Given the description of an element on the screen output the (x, y) to click on. 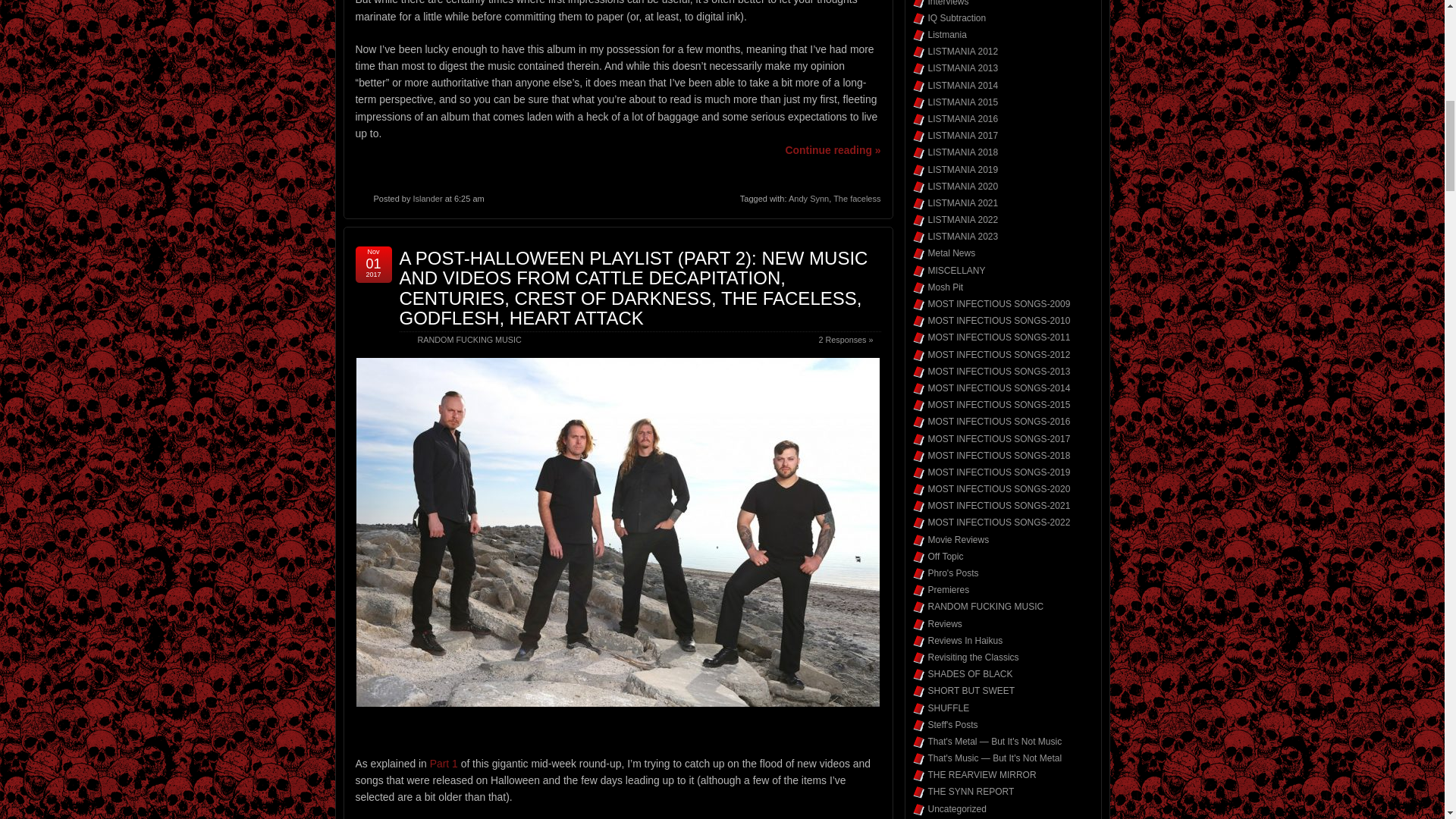
The faceless (856, 198)
Andy Synn (808, 198)
Islander (427, 198)
Part 1 (443, 763)
RANDOM FUCKING MUSIC (468, 338)
Andy Synn (808, 198)
Islander (427, 198)
The faceless (856, 198)
